Given the description of an element on the screen output the (x, y) to click on. 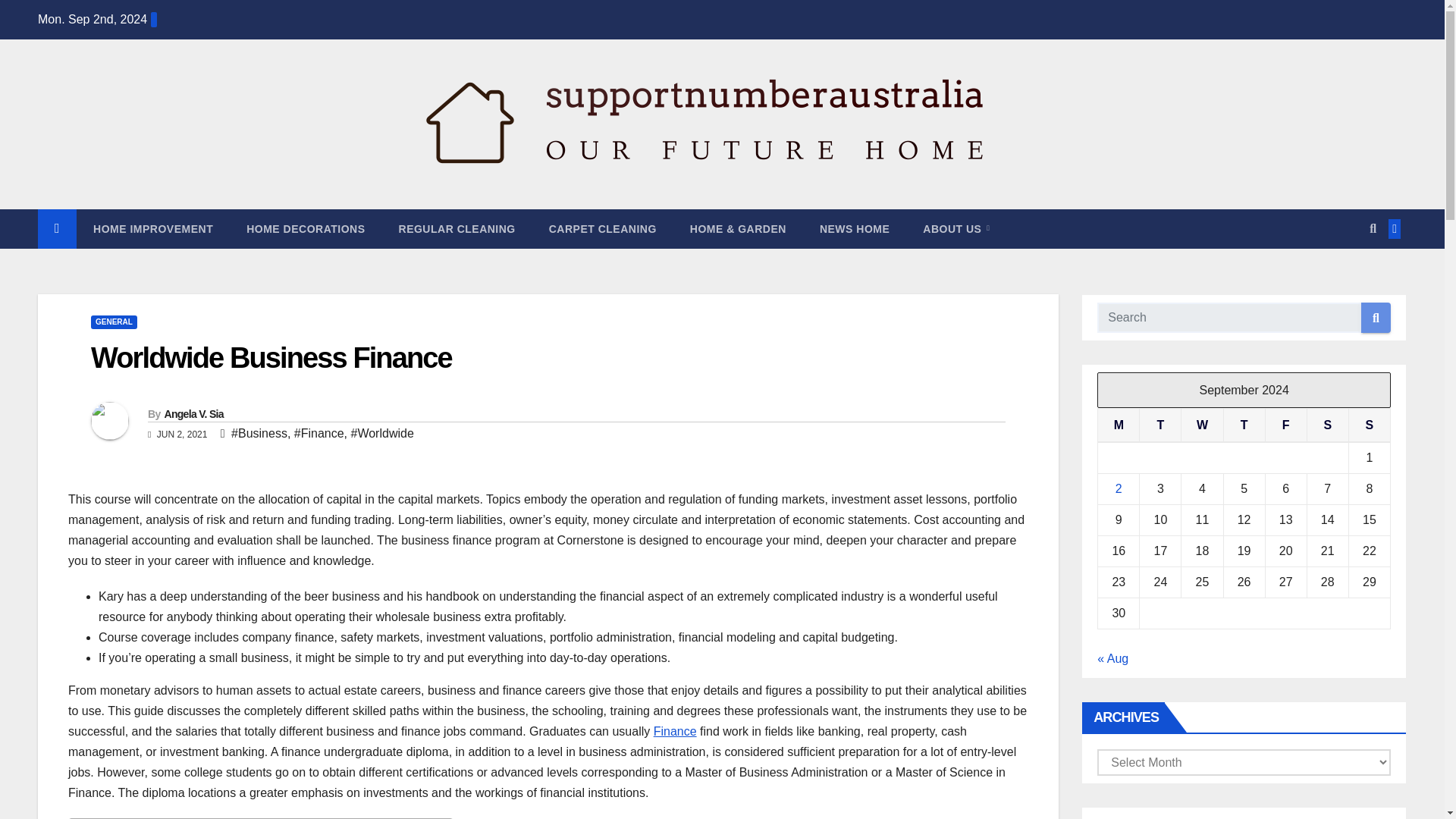
Worldwide Business Finance (270, 357)
Regular Cleaning (456, 228)
Home Improvement (153, 228)
Carpet Cleaning (602, 228)
Home Decorations (305, 228)
GENERAL (113, 322)
NEWS HOME (854, 228)
Angela V. Sia (192, 413)
About Us (955, 228)
Permalink to: Worldwide Business Finance (270, 357)
